Given the description of an element on the screen output the (x, y) to click on. 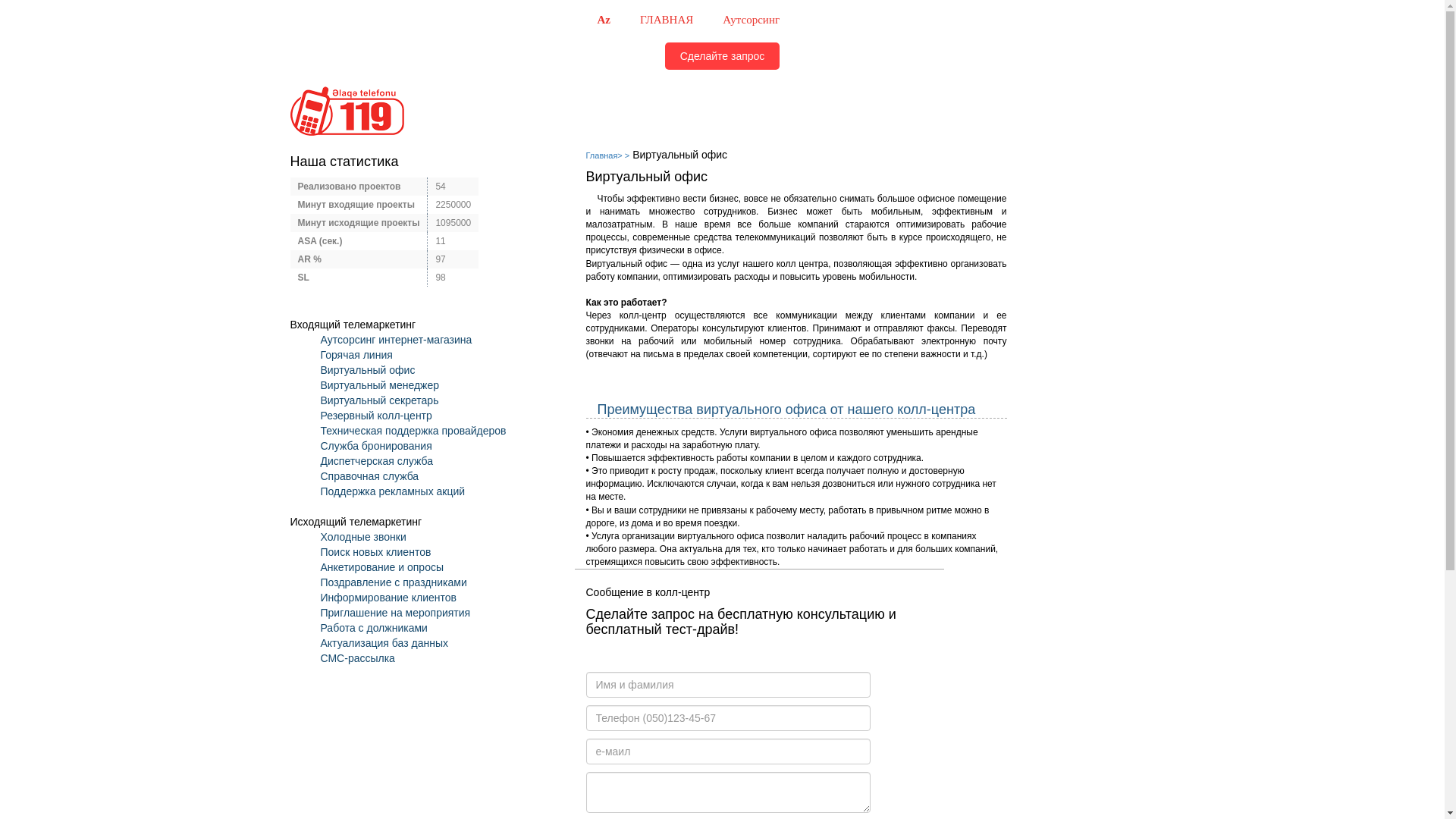
Az Element type: text (603, 19)
